Given the description of an element on the screen output the (x, y) to click on. 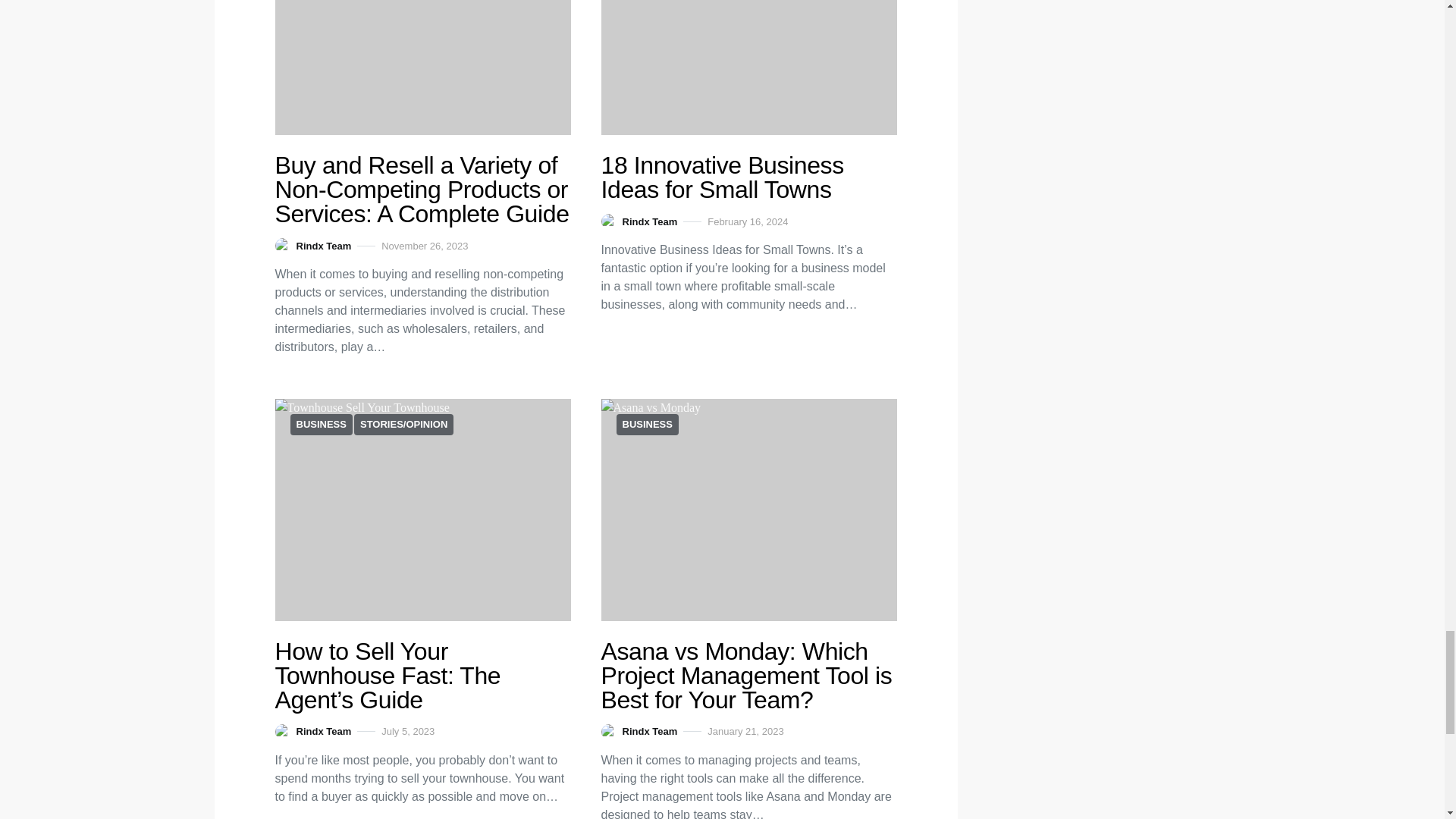
View all posts by Rindx Team (312, 245)
Digital Collaboration (422, 509)
View all posts by Rindx Team (638, 731)
View all posts by Rindx Team (312, 731)
Digital Collaboration (747, 67)
Digital Collaboration (747, 509)
View all posts by Rindx Team (638, 221)
Digital Collaboration (422, 67)
